Given the description of an element on the screen output the (x, y) to click on. 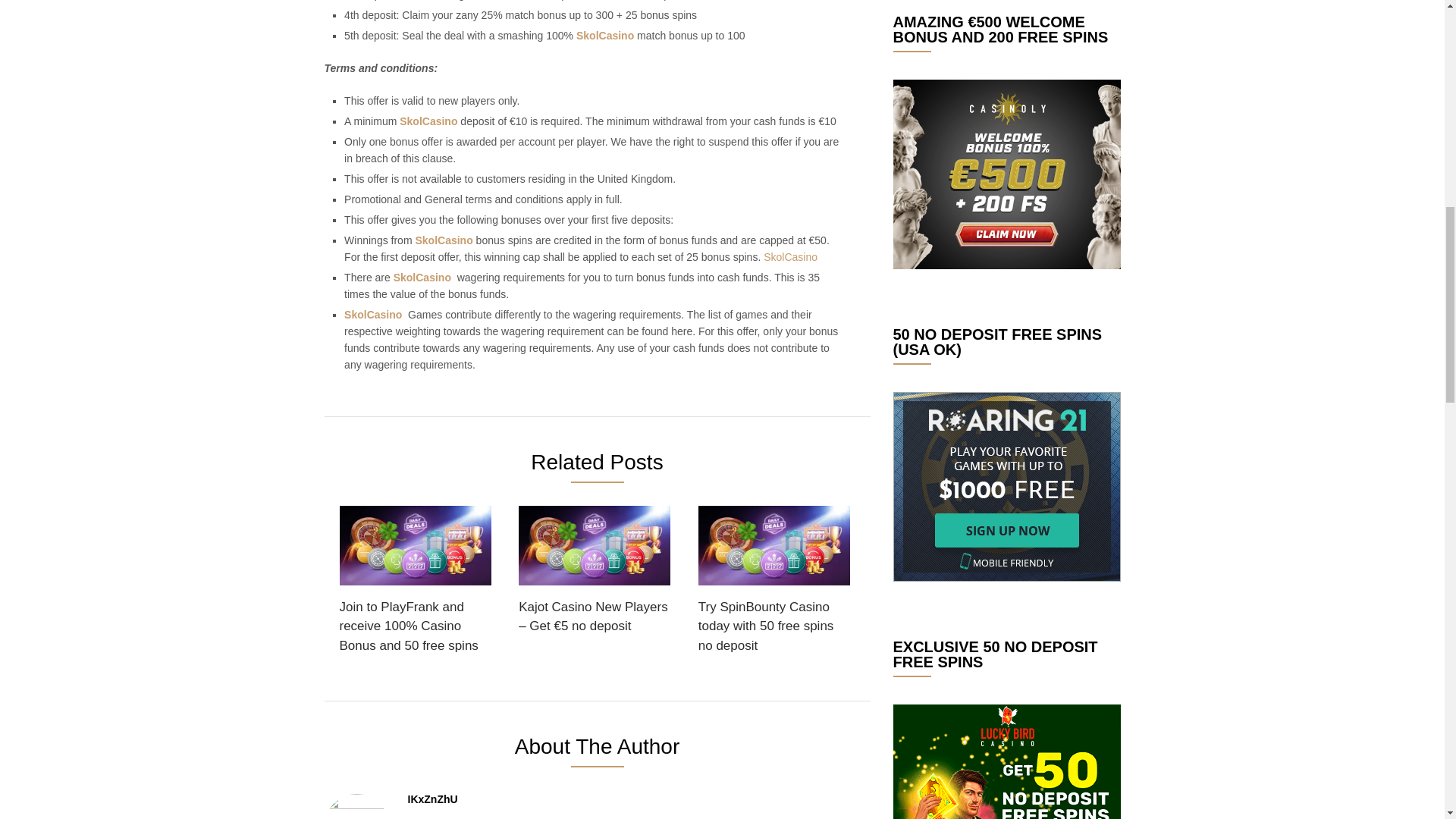
SkolCasino (372, 314)
SkolCasino (442, 240)
SkolCasino (427, 121)
SkolCasino (604, 35)
Try SpinBounty Casino today with 50 free spins no deposit (774, 584)
Try SpinBounty Casino today with 50 free spins no deposit (774, 584)
SkolCasino (422, 277)
SkolCasino (789, 256)
